Given the description of an element on the screen output the (x, y) to click on. 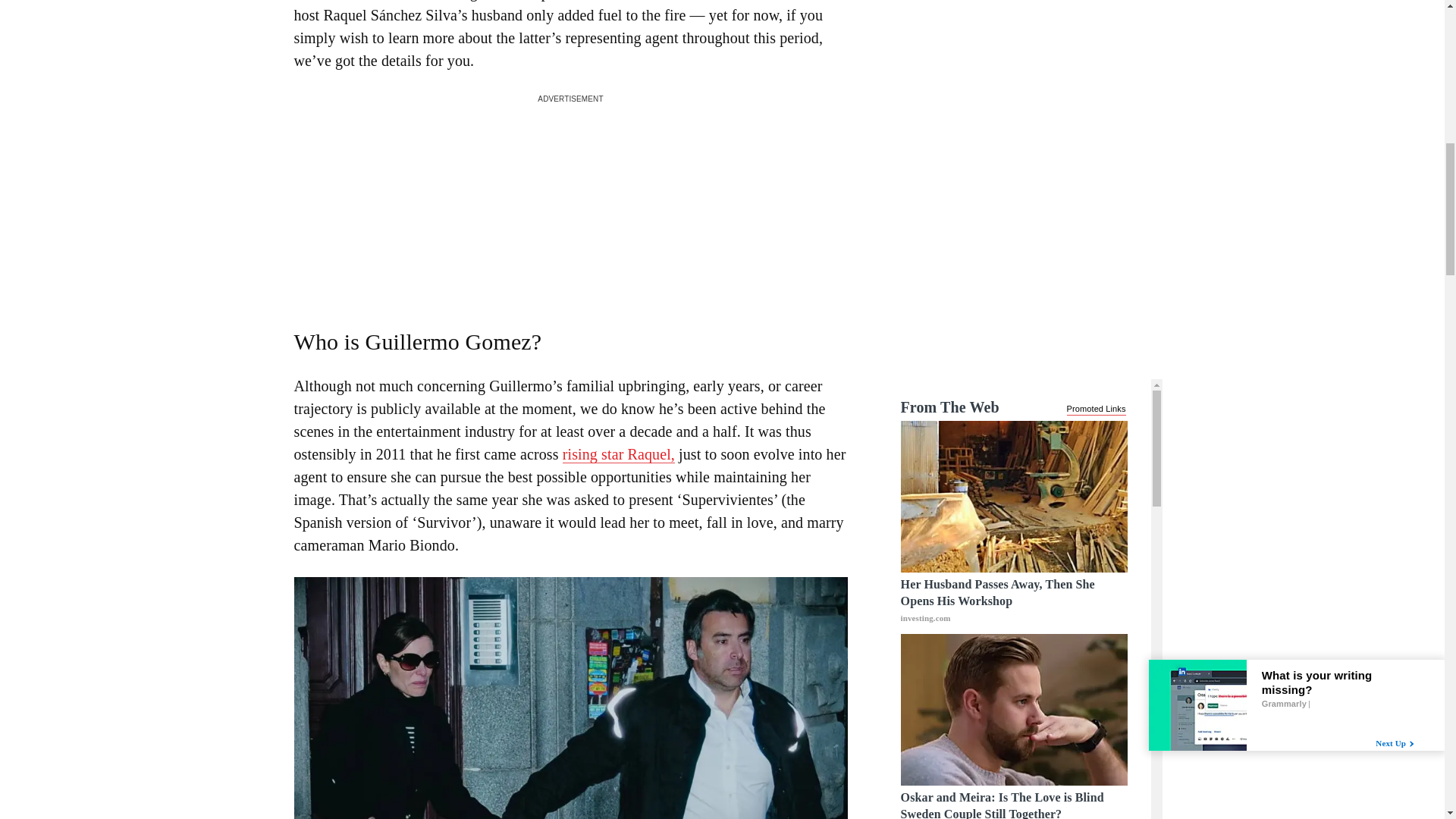
rising star Raquel, (618, 454)
